Given the description of an element on the screen output the (x, y) to click on. 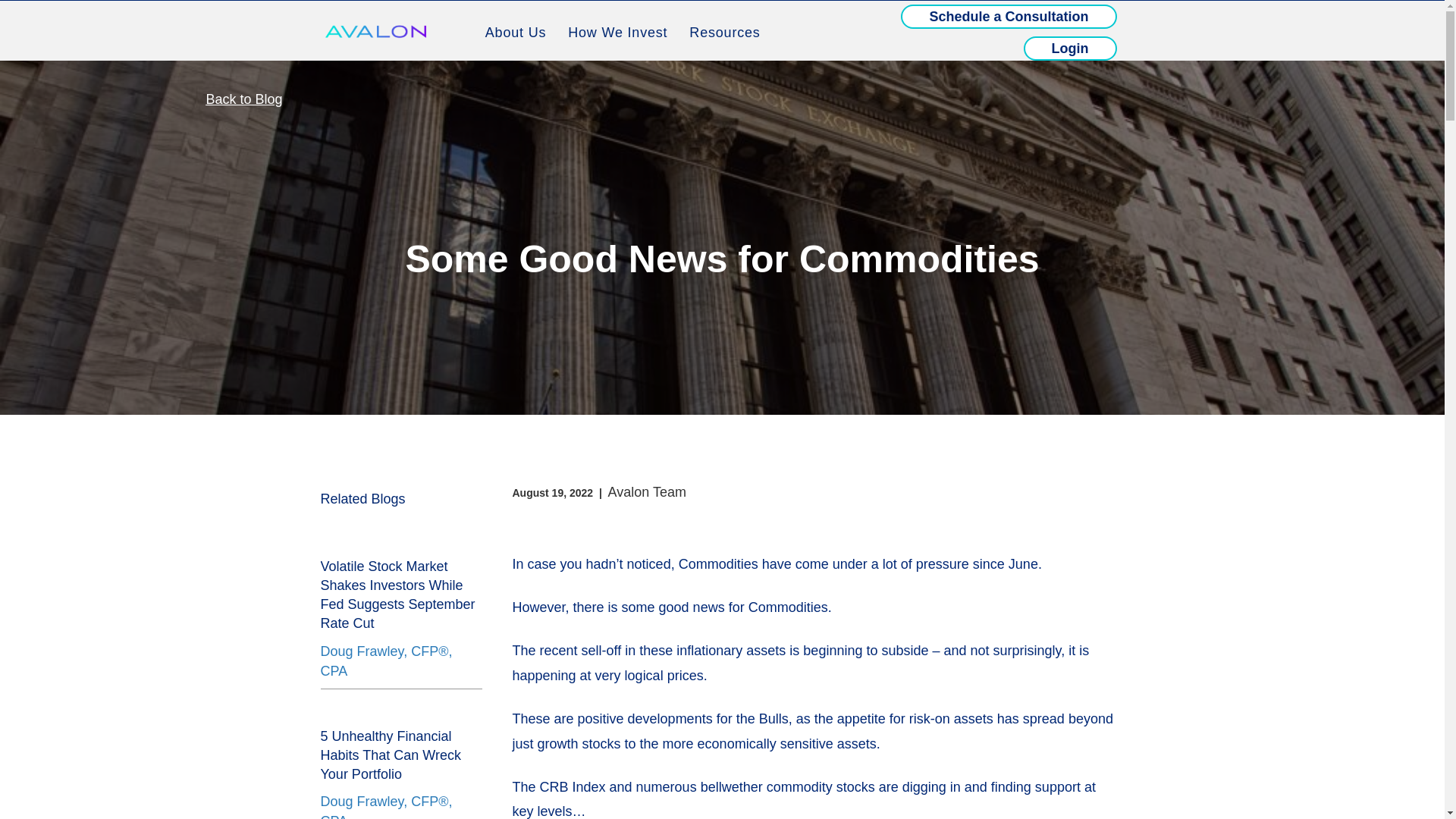
About Us (515, 32)
Login (1069, 48)
Resources (724, 32)
Schedule a Consultation (1008, 16)
Back to Blog (244, 99)
How We Invest (617, 32)
5 Unhealthy Financial Habits That Can Wreck Your Portfolio (390, 755)
Avalon Team (646, 491)
